Given the description of an element on the screen output the (x, y) to click on. 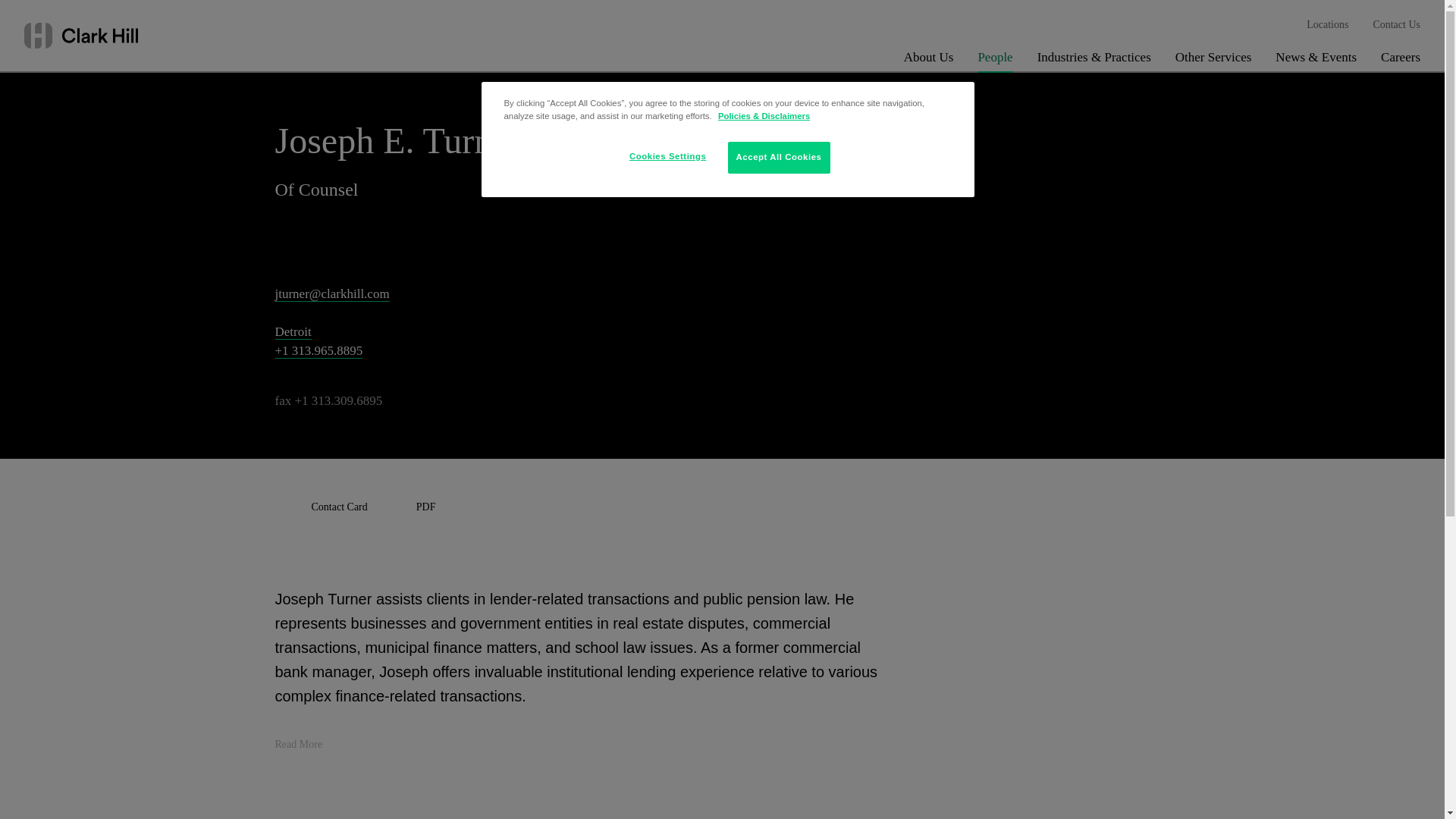
Detroit (293, 331)
Other Services (1213, 60)
Read More (307, 744)
Locations (1327, 24)
People (993, 60)
Careers (1400, 60)
Contact Us (1397, 24)
PDF (407, 507)
About Us (928, 60)
Contact Card (320, 507)
